Given the description of an element on the screen output the (x, y) to click on. 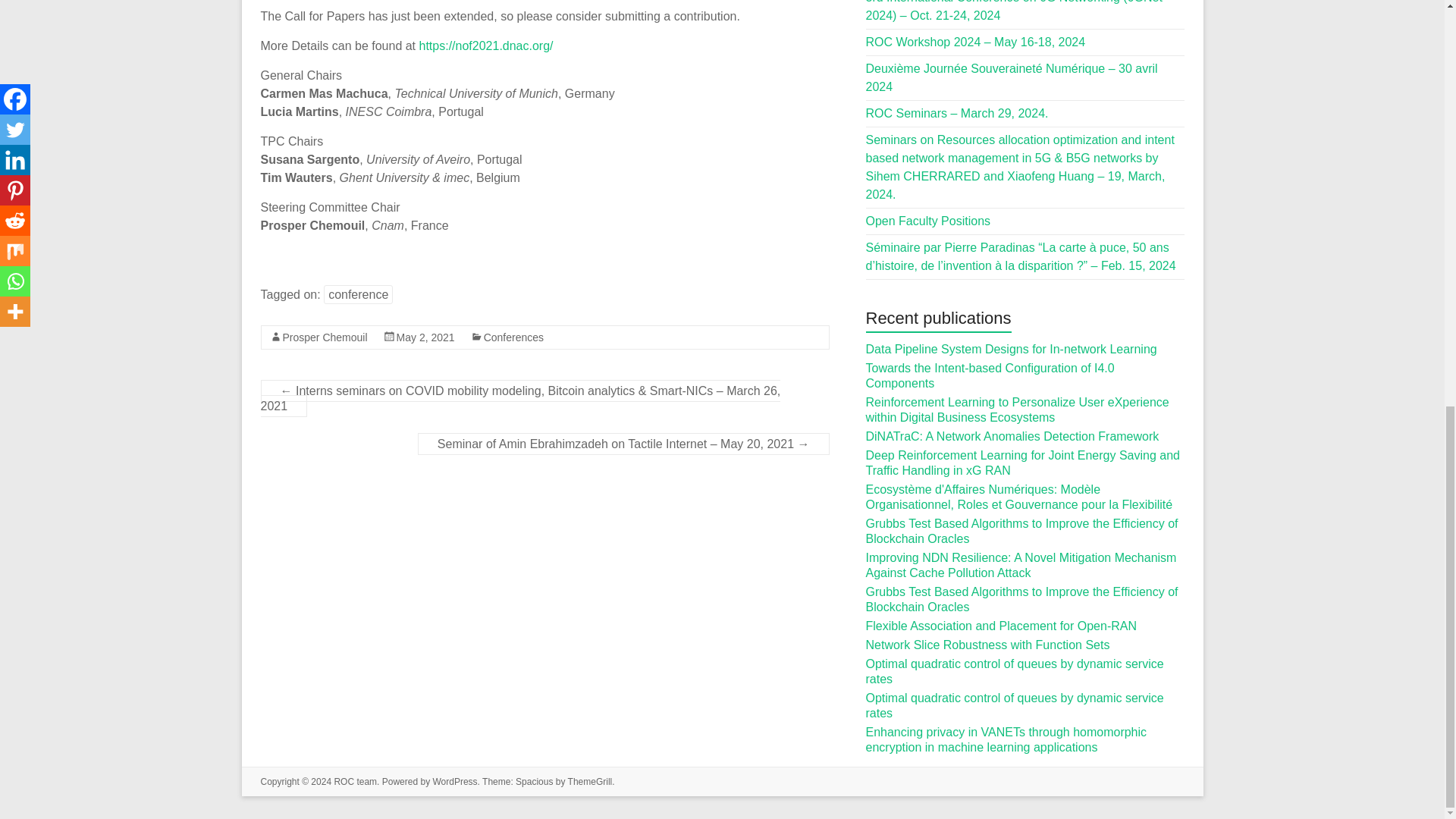
Conferences (513, 337)
conference (358, 294)
Data Pipeline System Designs for In-network Learning (1011, 349)
ThemeGrill (589, 781)
Prosper Chemouil (324, 337)
ROC team (355, 781)
May 2, 2021 (425, 337)
WordPress (454, 781)
Open Faculty Positions (928, 220)
9:35 am (425, 337)
